Given the description of an element on the screen output the (x, y) to click on. 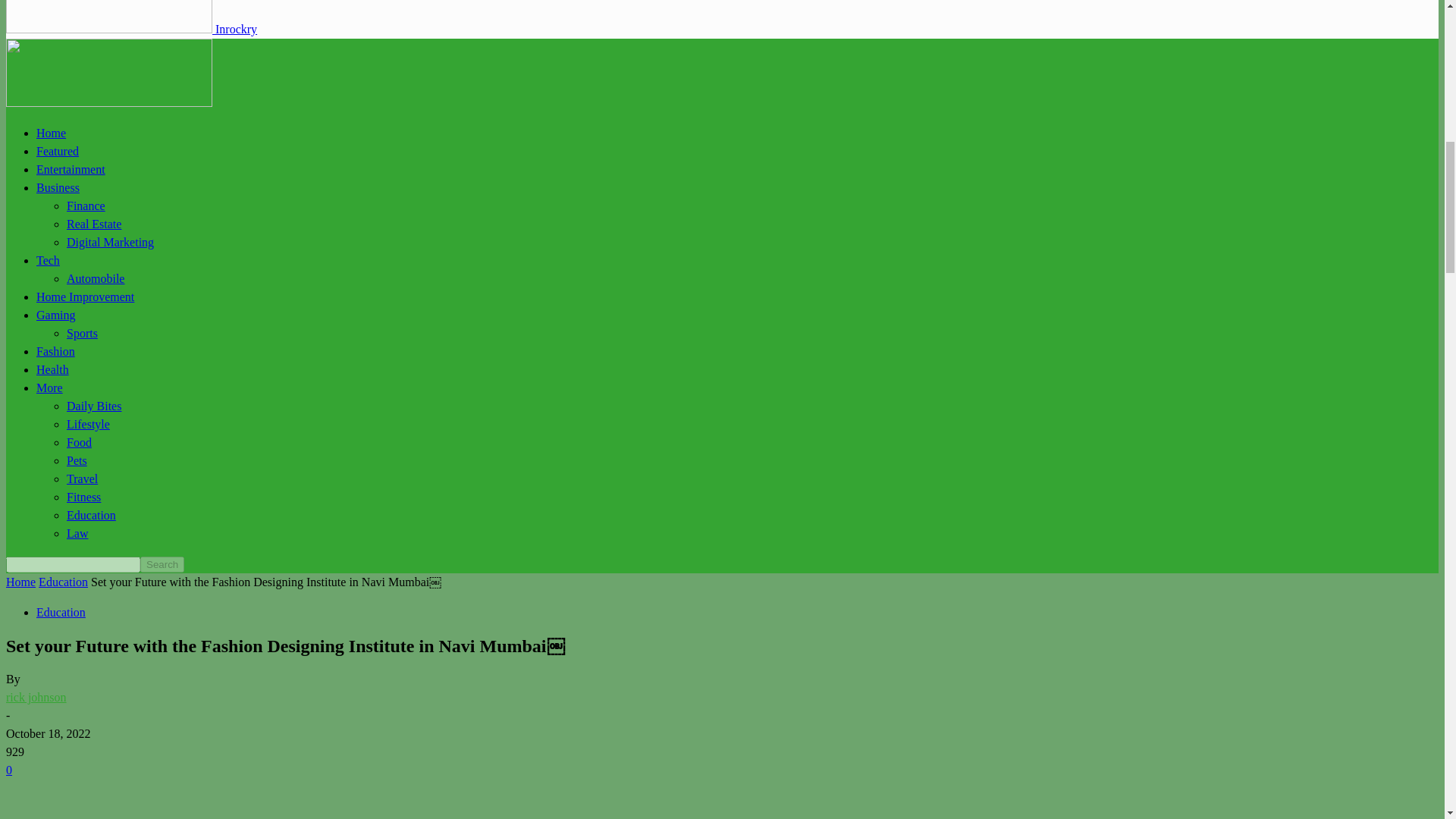
View all posts in Education (63, 581)
Search (161, 564)
